Given the description of an element on the screen output the (x, y) to click on. 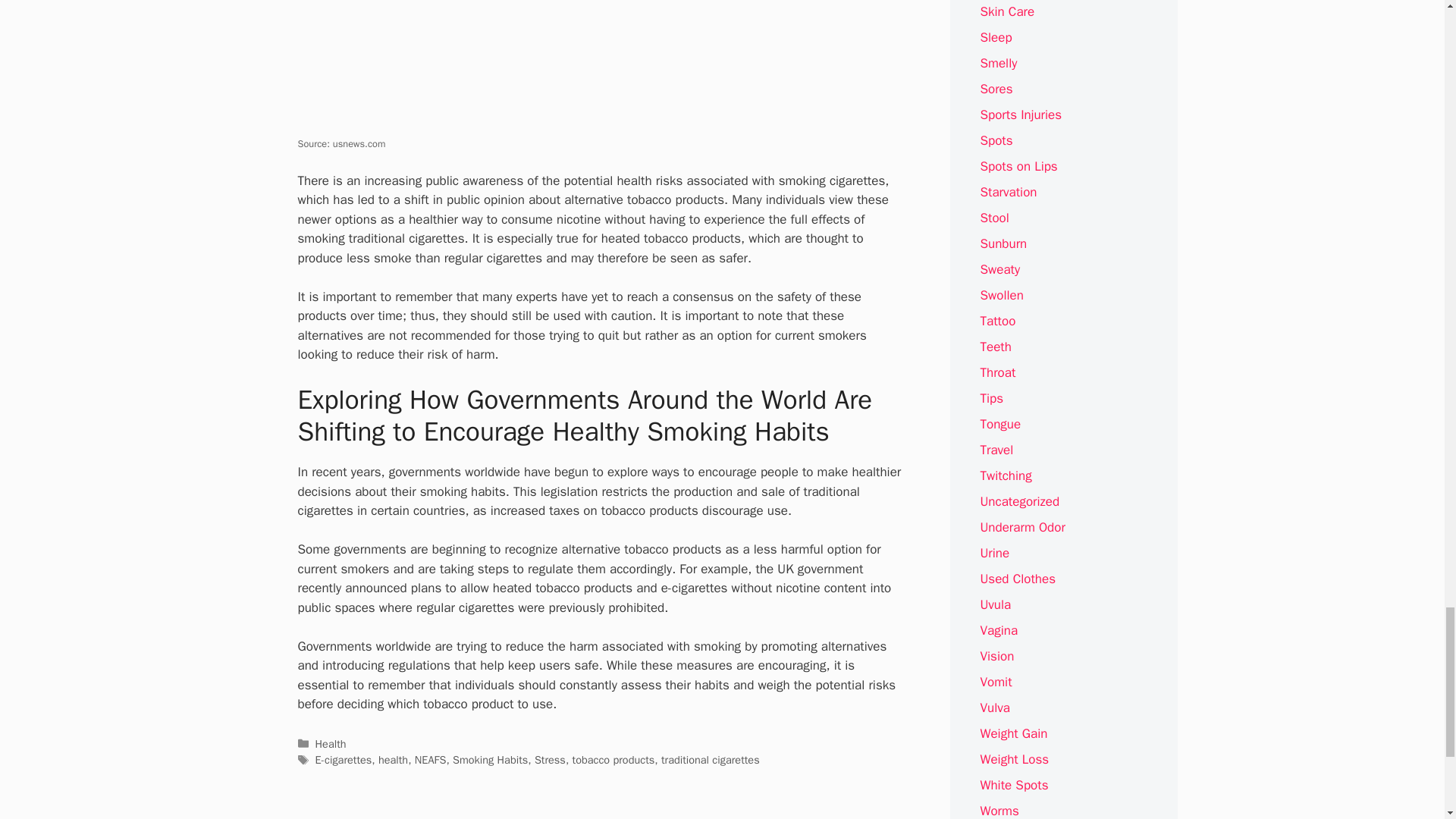
NEAFS (430, 759)
Smoking Habits (489, 759)
Health (330, 744)
E-cigarettes (343, 759)
health (392, 759)
traditional cigarettes (710, 759)
tobacco products (613, 759)
Stress (550, 759)
